Given the description of an element on the screen output the (x, y) to click on. 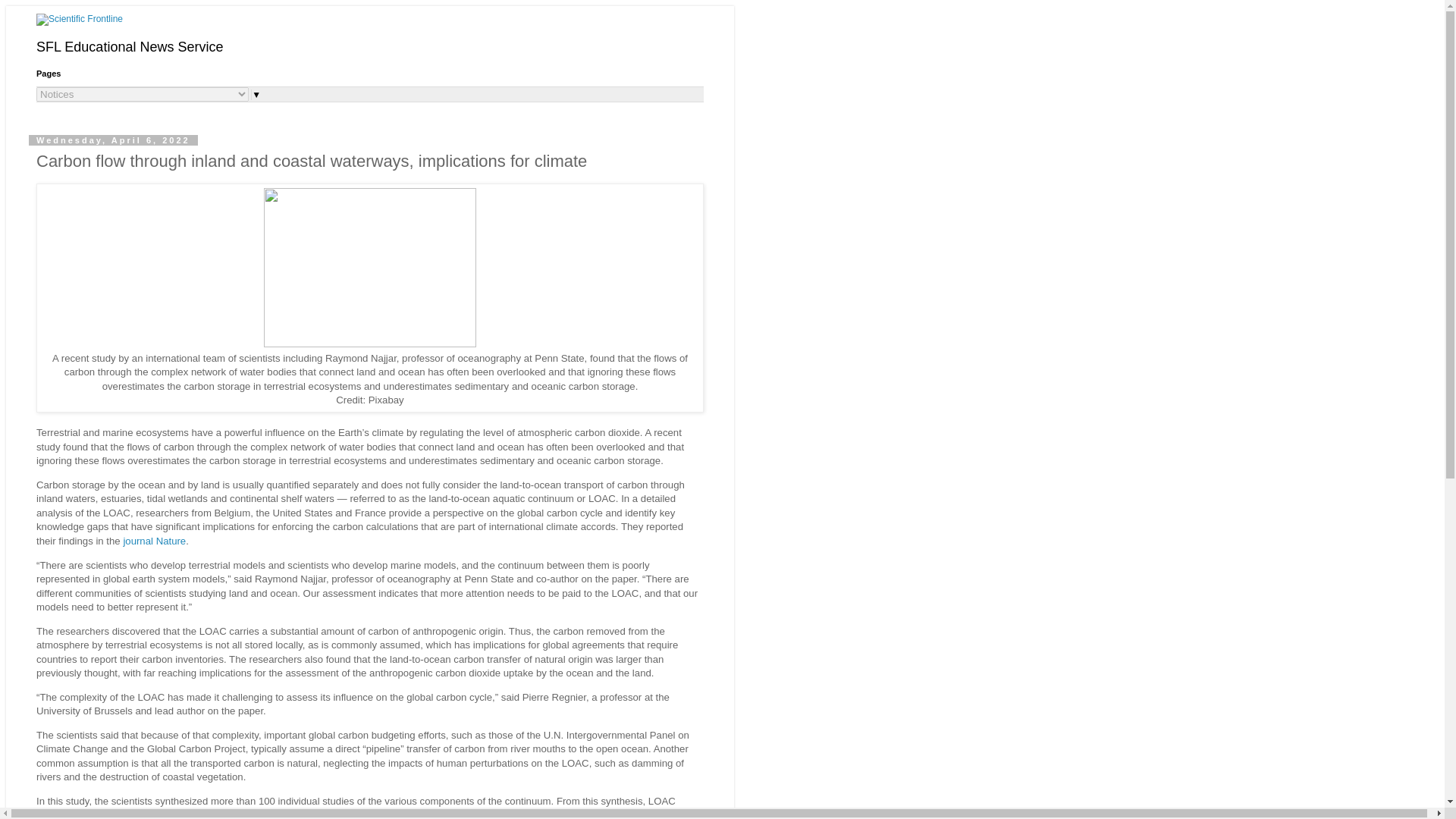
journal Nature (154, 541)
